Given the description of an element on the screen output the (x, y) to click on. 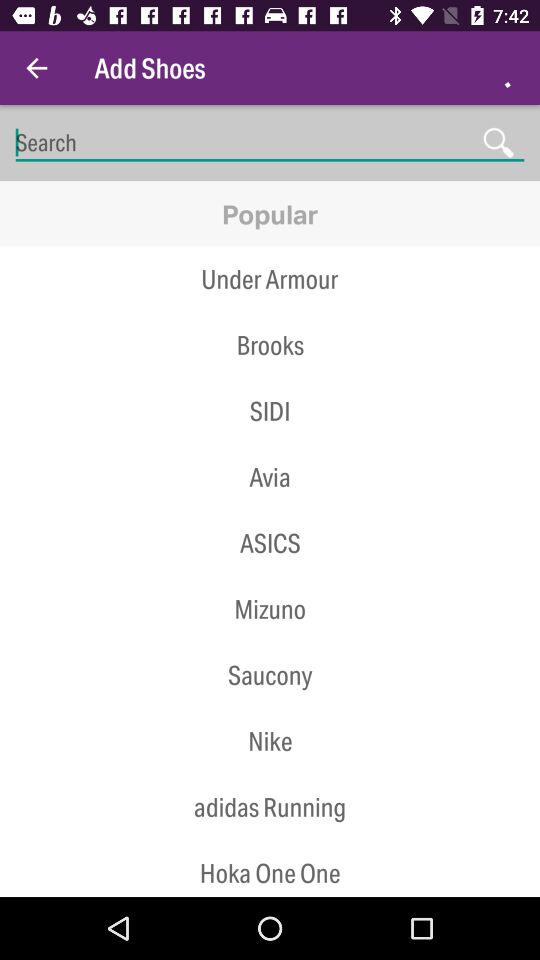
scroll until the avia (270, 477)
